Given the description of an element on the screen output the (x, y) to click on. 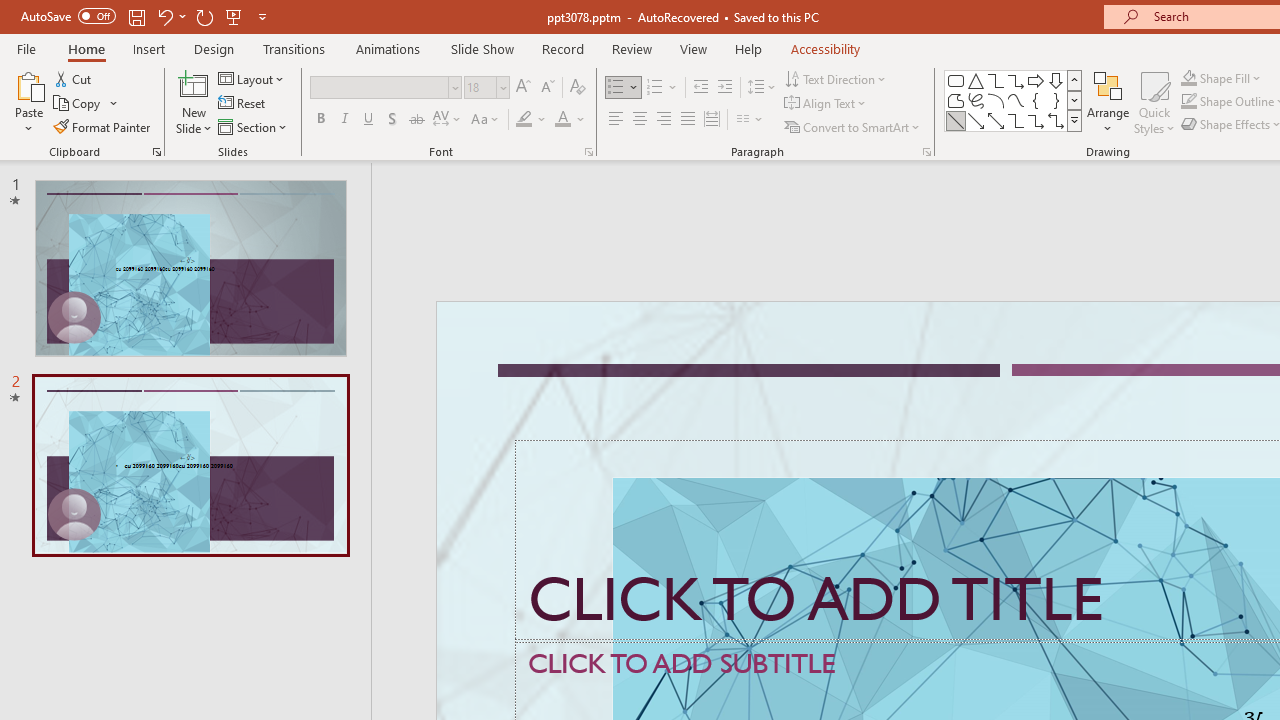
Connector: Elbow Double-Arrow (1055, 120)
